Given the description of an element on the screen output the (x, y) to click on. 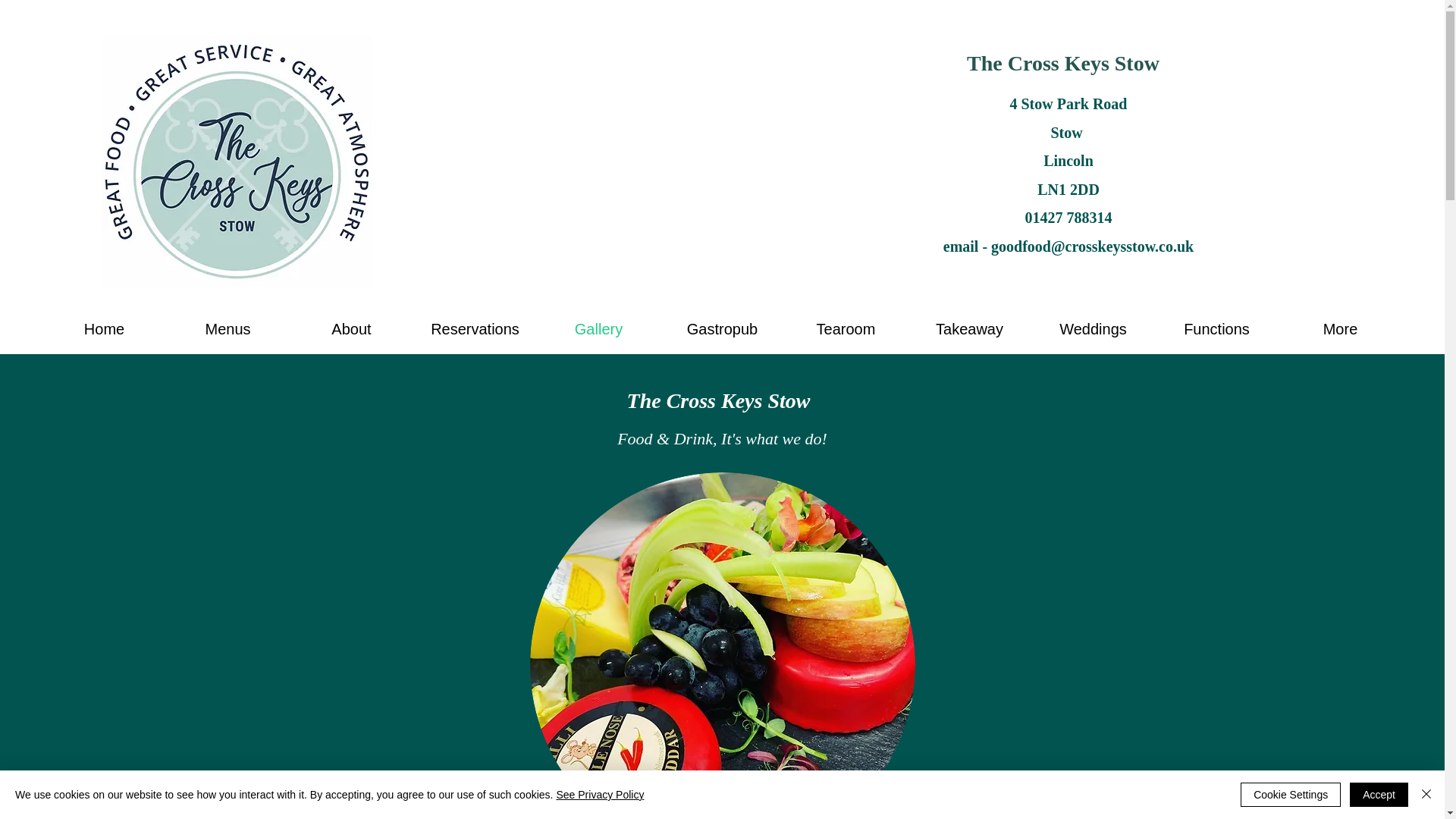
Gallery (599, 328)
Weddings (1092, 328)
Functions (1216, 328)
Reservations (475, 328)
Accept (1378, 794)
Cookie Settings (1290, 794)
The Cross Keys Stow (1062, 63)
Home (103, 328)
About (351, 328)
See Privacy Policy (599, 794)
